Given the description of an element on the screen output the (x, y) to click on. 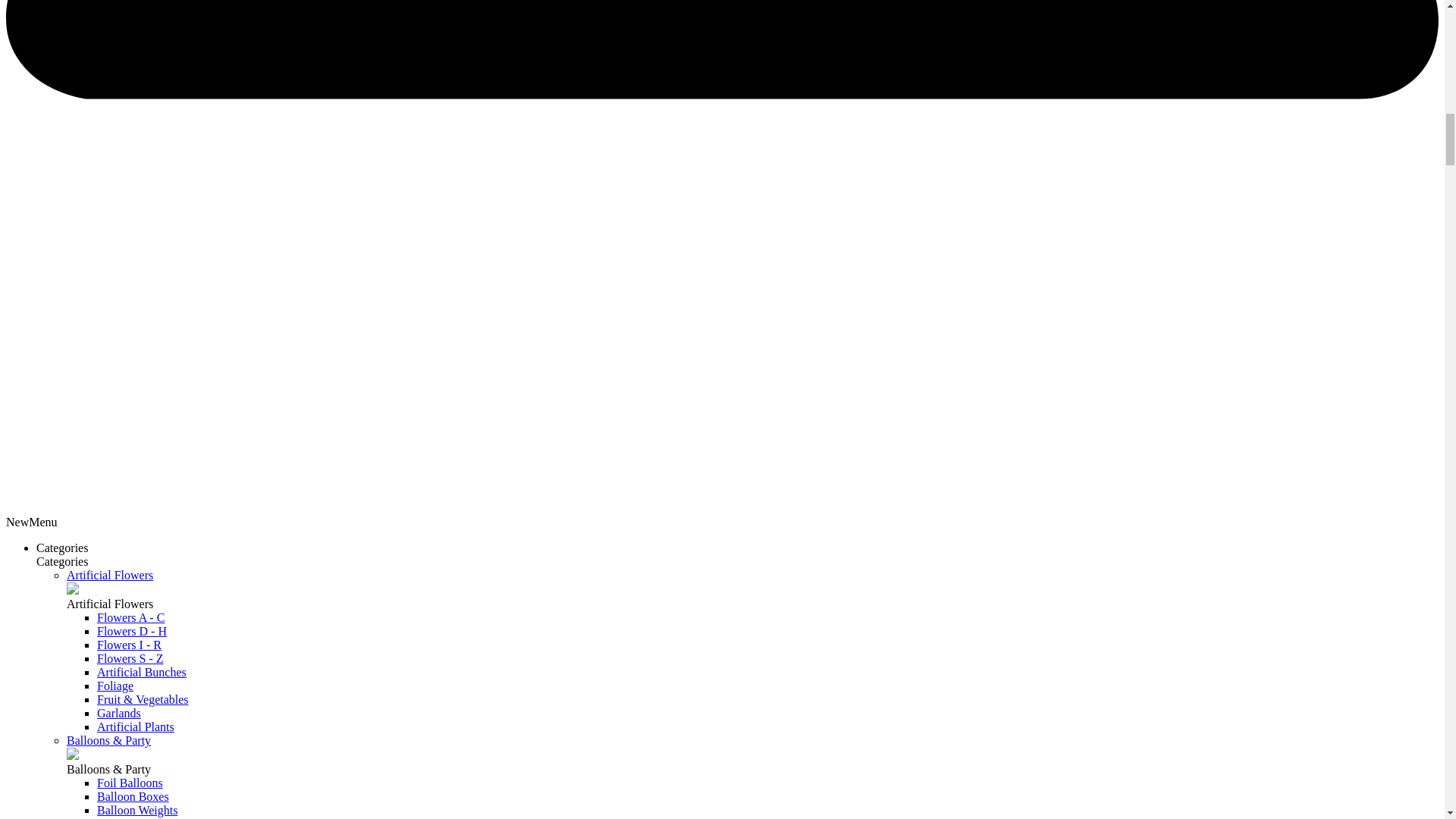
Balloon Boxes (132, 796)
Balloon Weights (137, 809)
Artificial Plants (135, 726)
Artificial Flowers (109, 574)
Foliage (115, 685)
Megaloons (124, 818)
Artificial Bunches (141, 671)
Categories (61, 547)
Flowers D - H (132, 631)
Flowers A - C (130, 617)
